Given the description of an element on the screen output the (x, y) to click on. 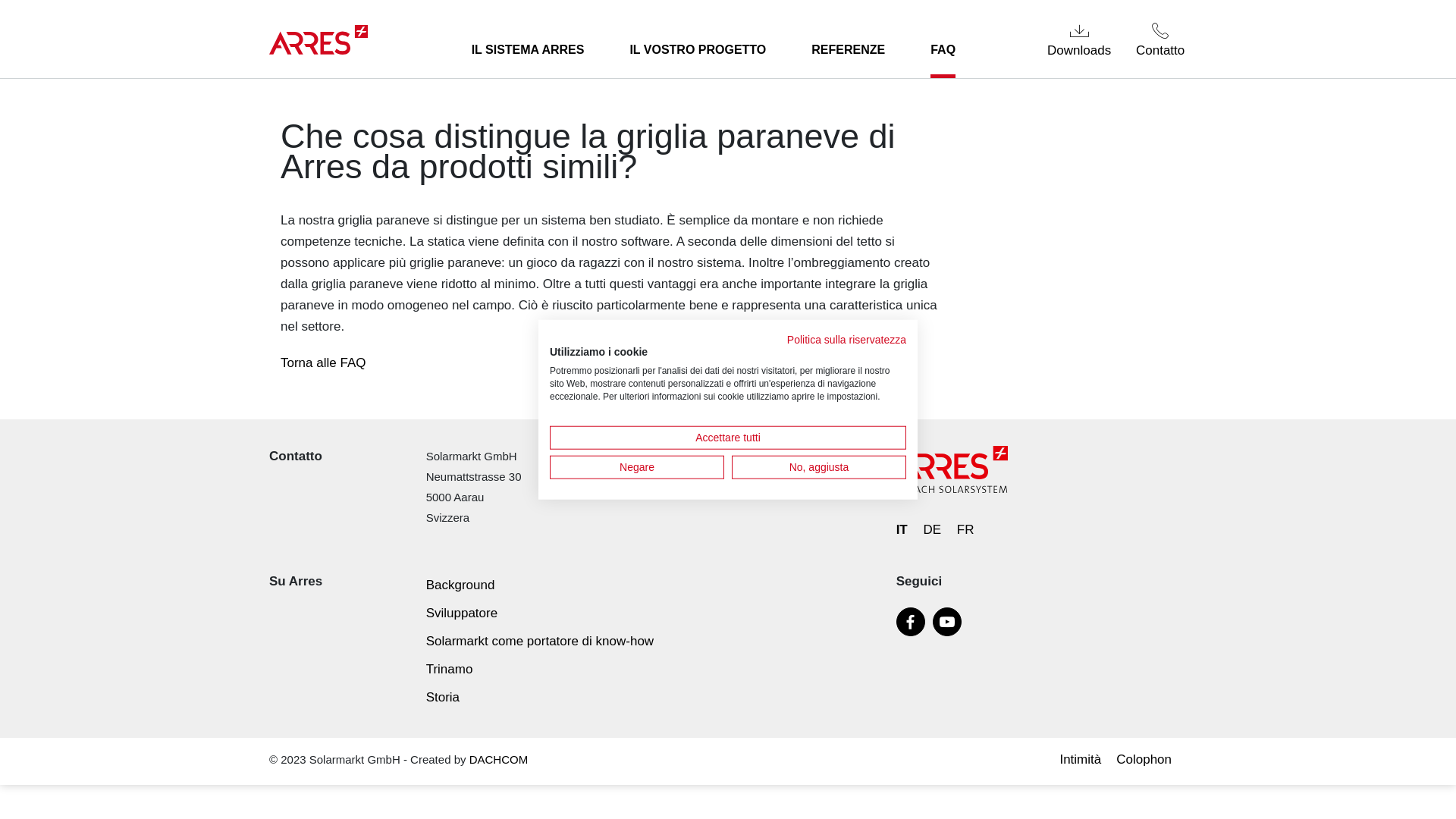
Sviluppatore Element type: text (462, 612)
Downloads Element type: text (1079, 39)
Colophon Element type: text (1147, 759)
No, aggiusta Element type: text (818, 466)
FAQ Element type: text (942, 49)
Storia Element type: text (442, 697)
Torna alle FAQ Element type: text (322, 362)
Negare Element type: text (636, 466)
REFERENZE Element type: text (847, 49)
DE Element type: text (931, 529)
Background Element type: text (460, 584)
+41 62 200 62 00 Element type: text (626, 455)
Politica sulla riservatezza Element type: text (846, 339)
Trinamo Element type: text (449, 669)
Solarmarkt come portatore di know-how Element type: text (539, 640)
Accettare tutti Element type: text (727, 436)
IT Element type: text (901, 529)
IL VOSTRO PROGETTO Element type: text (697, 49)
FR Element type: text (965, 529)
Contatto Element type: text (1160, 39)
info@arres.ch Element type: text (617, 476)
DACHCOM Element type: text (498, 759)
IL SISTEMA ARRES Element type: text (527, 49)
